Given the description of an element on the screen output the (x, y) to click on. 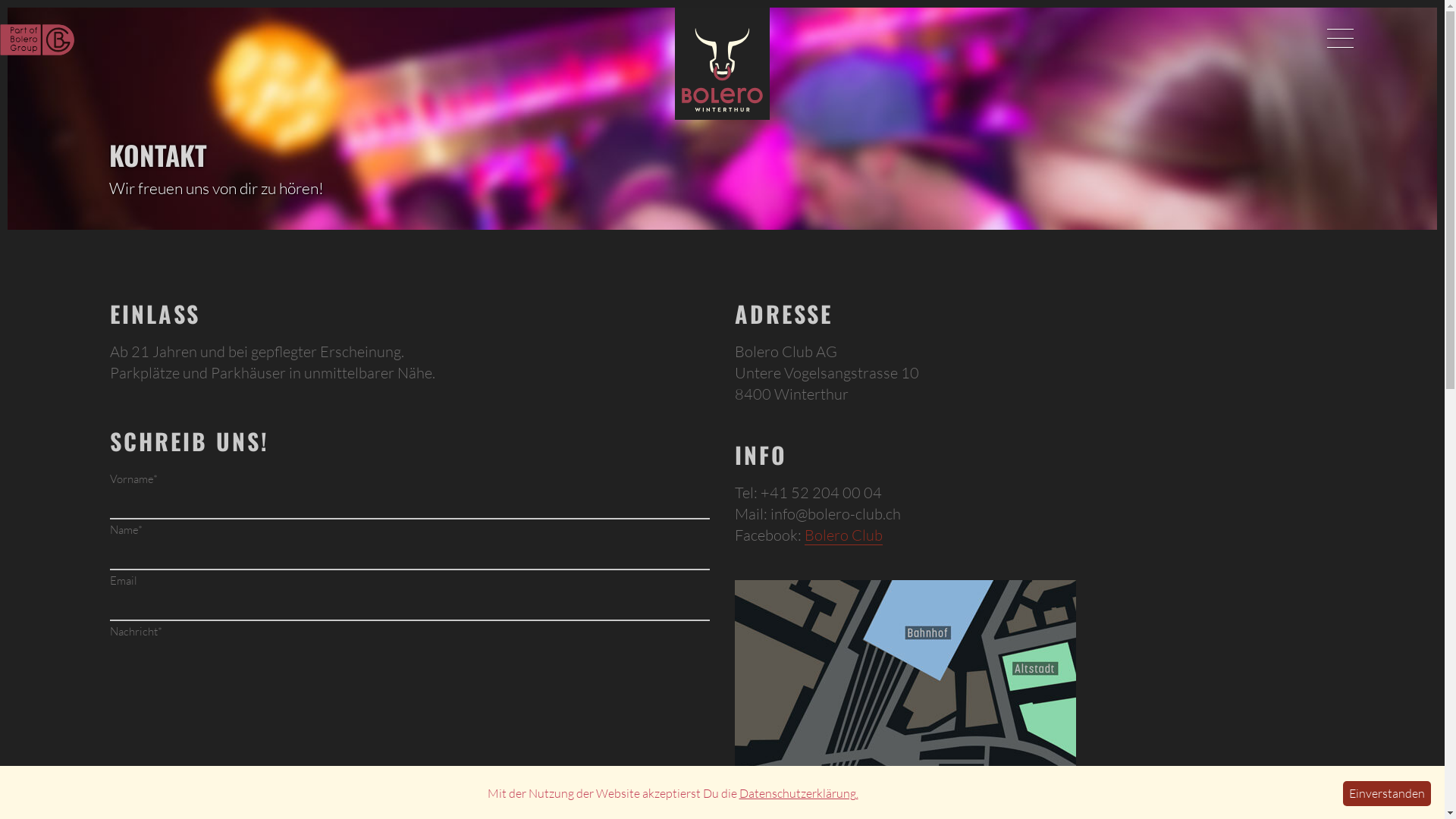
Bolero Club Element type: text (843, 535)
